Given the description of an element on the screen output the (x, y) to click on. 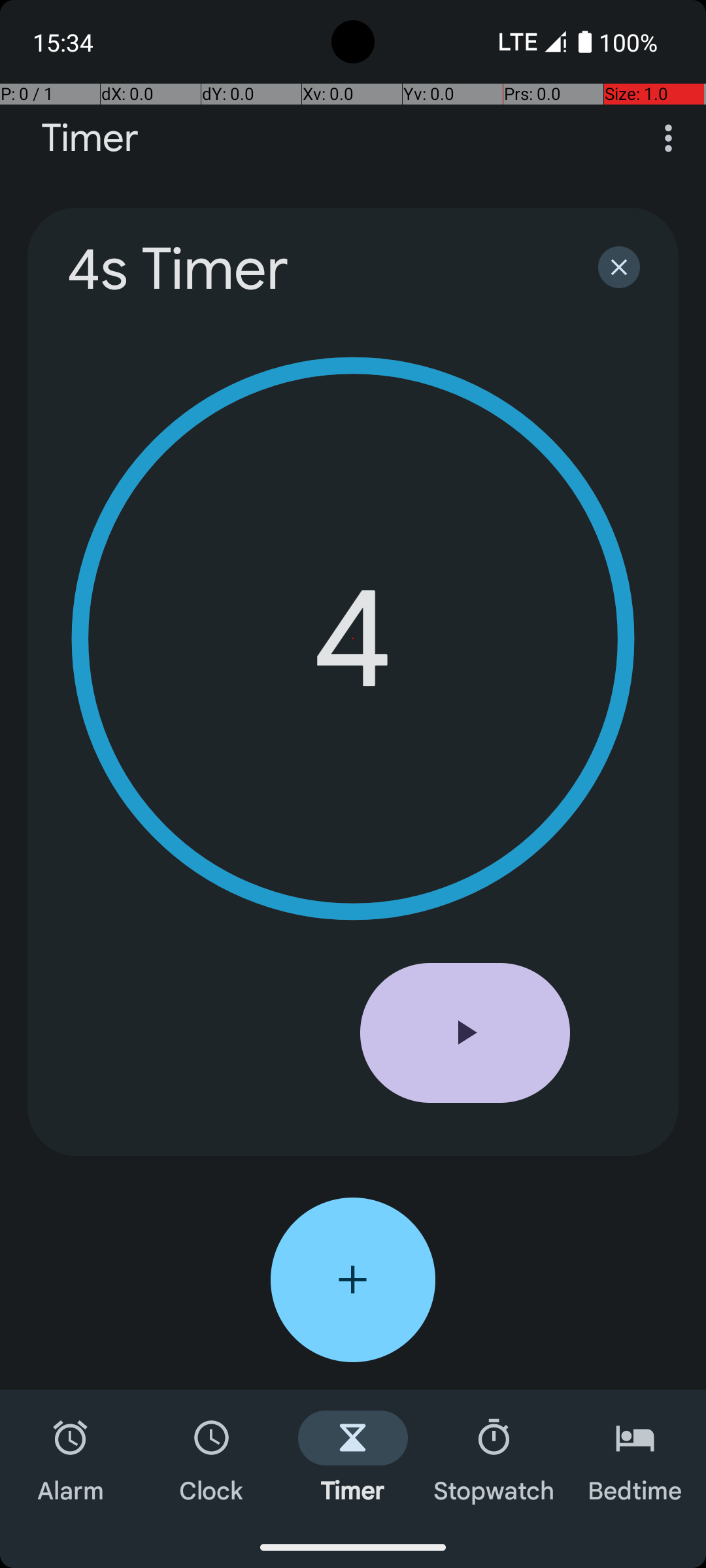
Add timer Element type: android.widget.Button (352, 1279)
4s Timer Element type: android.widget.TextView (315, 269)
